Given the description of an element on the screen output the (x, y) to click on. 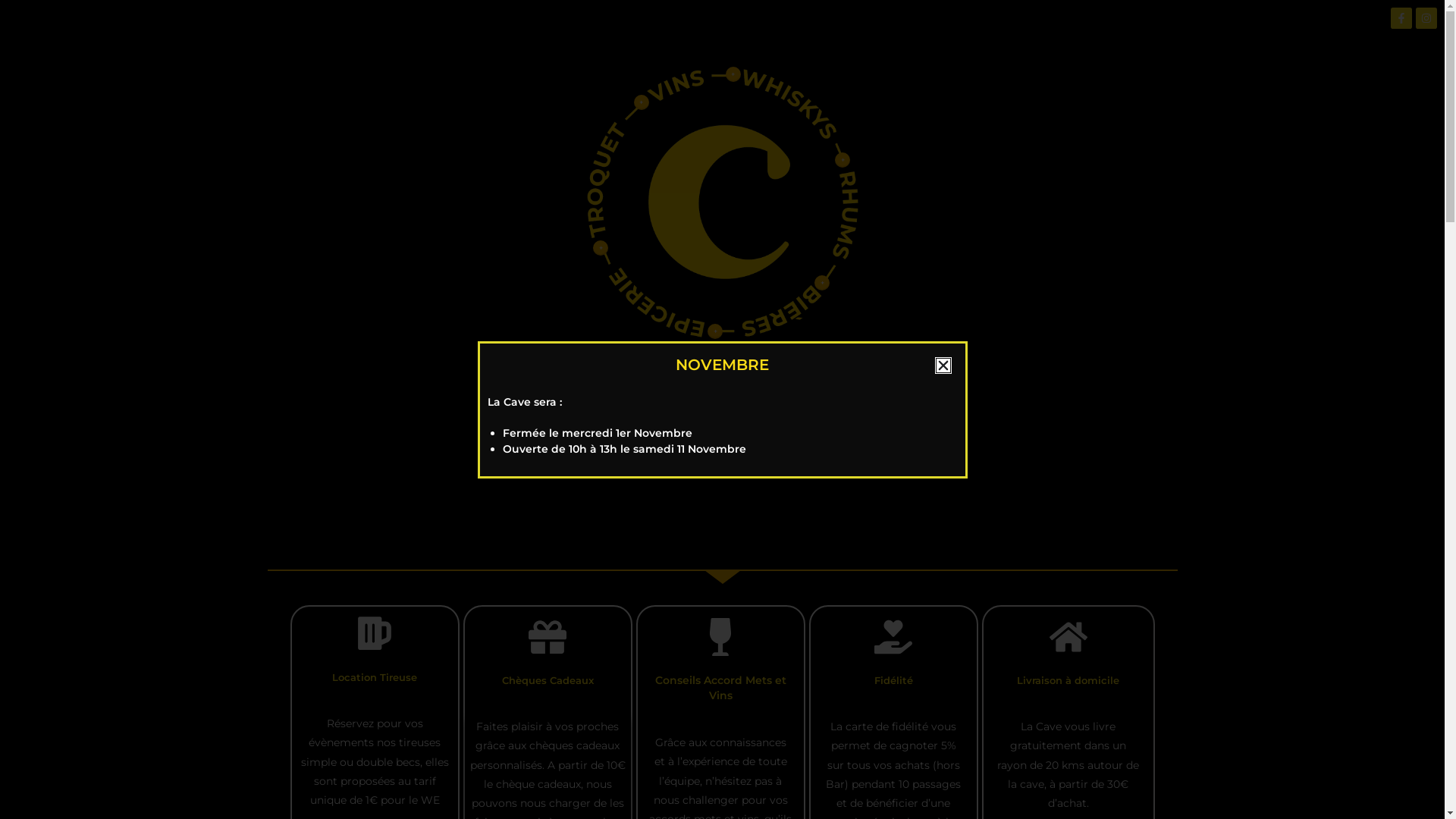
+ Element type: text (641, 101)
02 97 48 38 61  Element type: text (755, 444)
+ Element type: text (600, 247)
sarlcap2020@gmail.com Element type: text (735, 464)
+ Element type: text (821, 282)
+ Element type: text (842, 159)
+ Element type: text (714, 330)
+ Element type: text (732, 73)
